Given the description of an element on the screen output the (x, y) to click on. 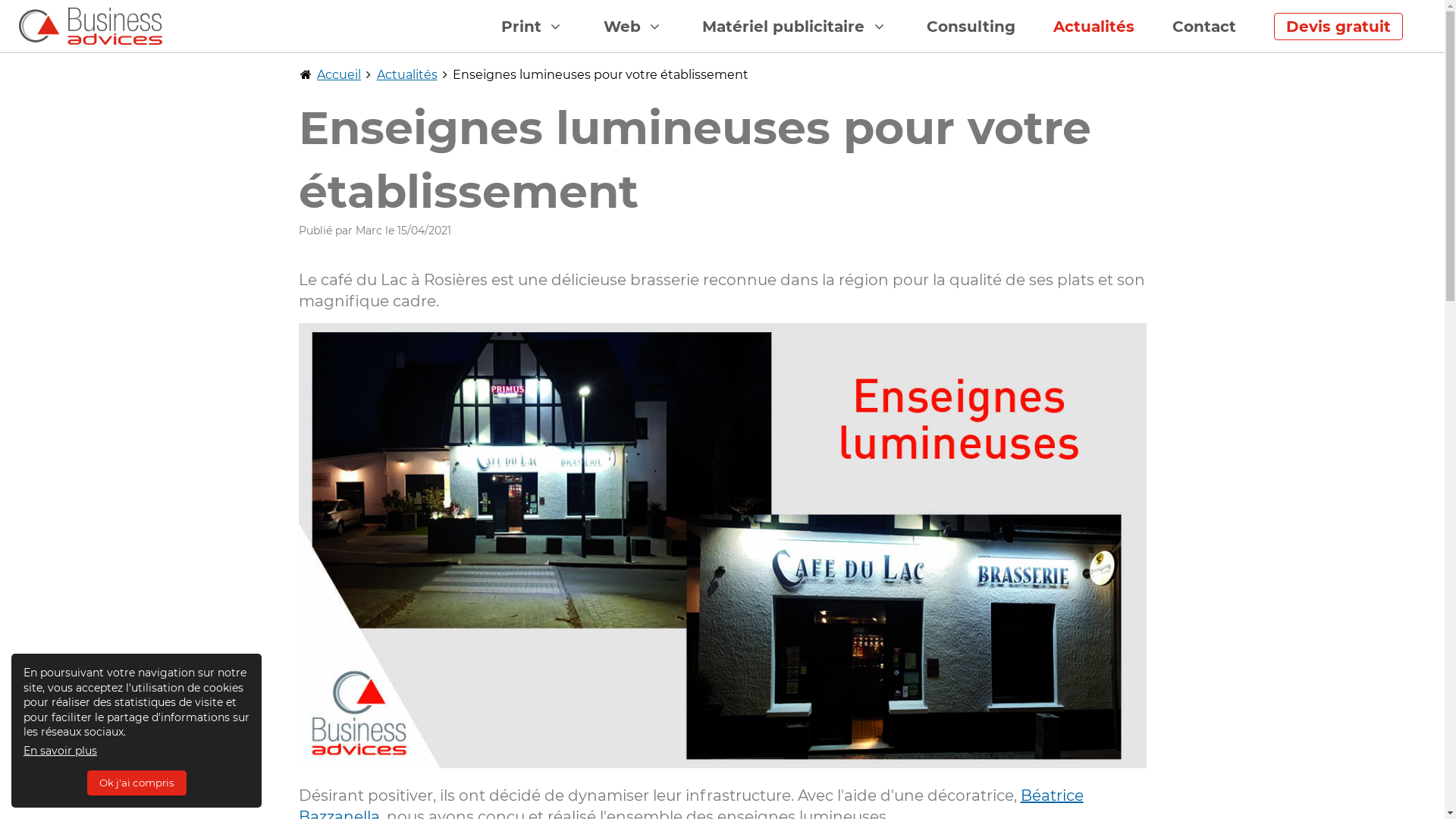
Contact Element type: text (1204, 26)
Web Element type: text (634, 26)
Print Element type: text (533, 26)
Consulting Element type: text (970, 26)
En savoir plus Element type: text (60, 750)
Accueil Element type: text (338, 74)
Devis gratuit Element type: text (1338, 26)
Ok j'ai compris Element type: text (135, 782)
